Given the description of an element on the screen output the (x, y) to click on. 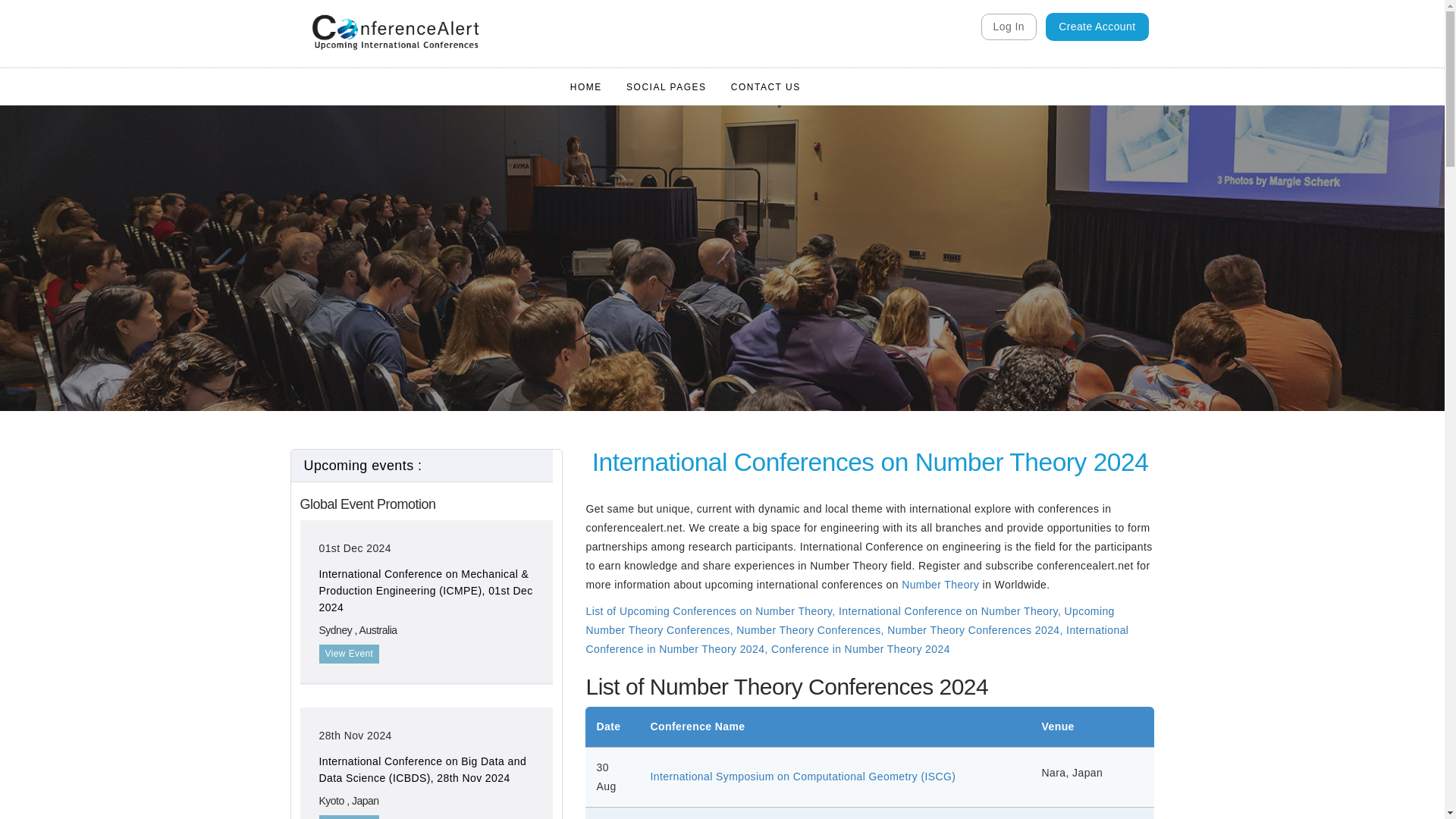
HOME (585, 68)
Number Theory Conferences 2024, (975, 324)
International Conference in Number Theory 2024, (856, 333)
Upcoming Number Theory Conferences, (849, 314)
Create Account (1096, 26)
Number Theory (939, 278)
Contact us today (426, 739)
SOCIAL PAGES (665, 68)
Log In (1008, 26)
View Event (348, 348)
Conference in Number Theory 2024 (860, 343)
International Conference on Number Theory, (951, 305)
Number Theory Conferences, (811, 324)
List of Upcoming Conferences on Number Theory, (709, 305)
CONTACT US (765, 68)
